Given the description of an element on the screen output the (x, y) to click on. 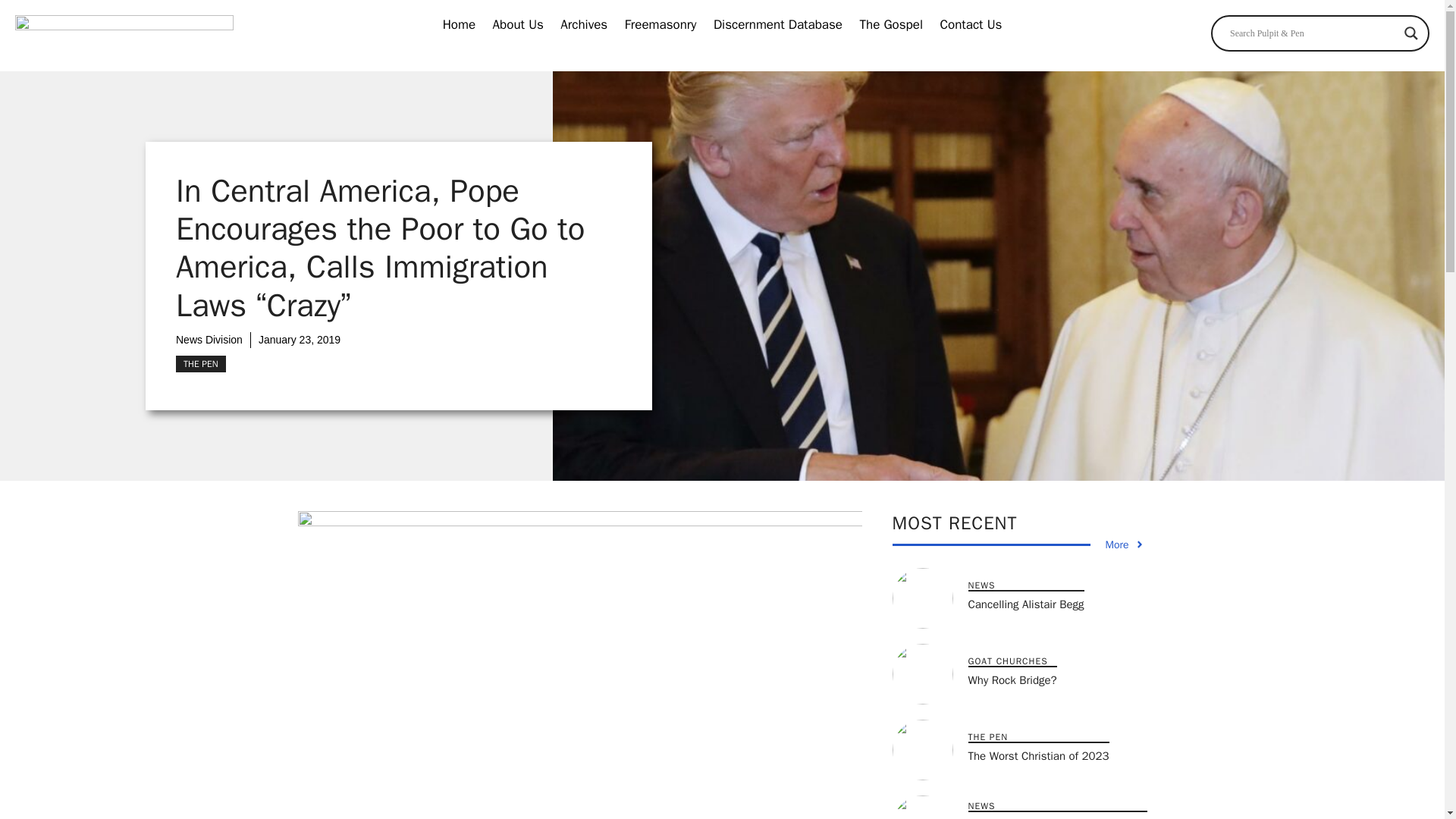
Why Rock Bridge? (1012, 680)
Freemasonry (660, 25)
The Worst Christian of 2023 (1038, 755)
Cancelling Alistair Begg (1025, 603)
More (1124, 544)
Discernment Database (777, 25)
Archives (583, 25)
Contact Us (970, 25)
About Us (517, 25)
pplogo-3 (123, 35)
THE PEN (200, 363)
News Division (209, 339)
Home (459, 25)
The Gospel (890, 25)
